Given the description of an element on the screen output the (x, y) to click on. 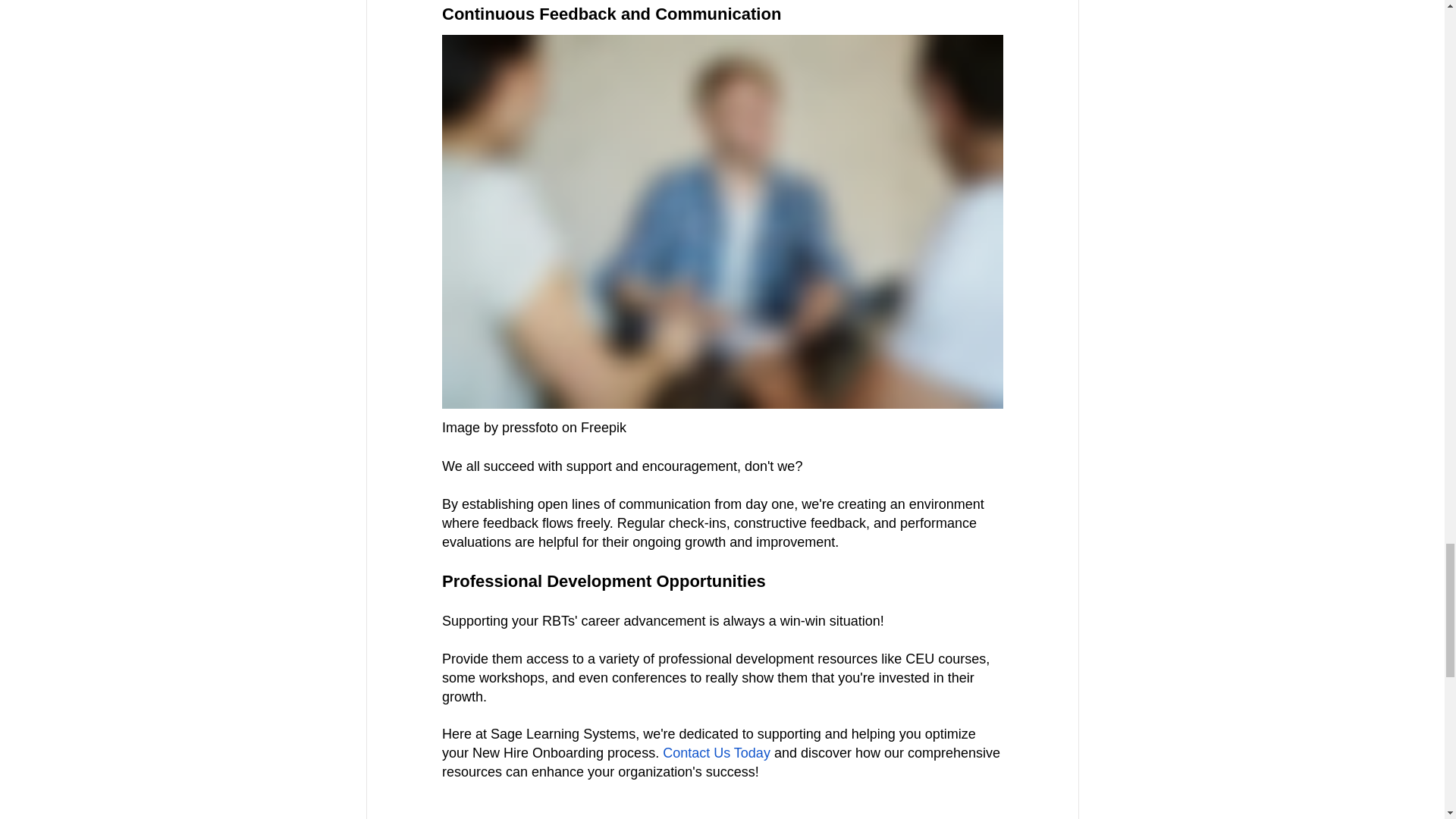
 Contact Us Today (714, 752)
